Given the description of an element on the screen output the (x, y) to click on. 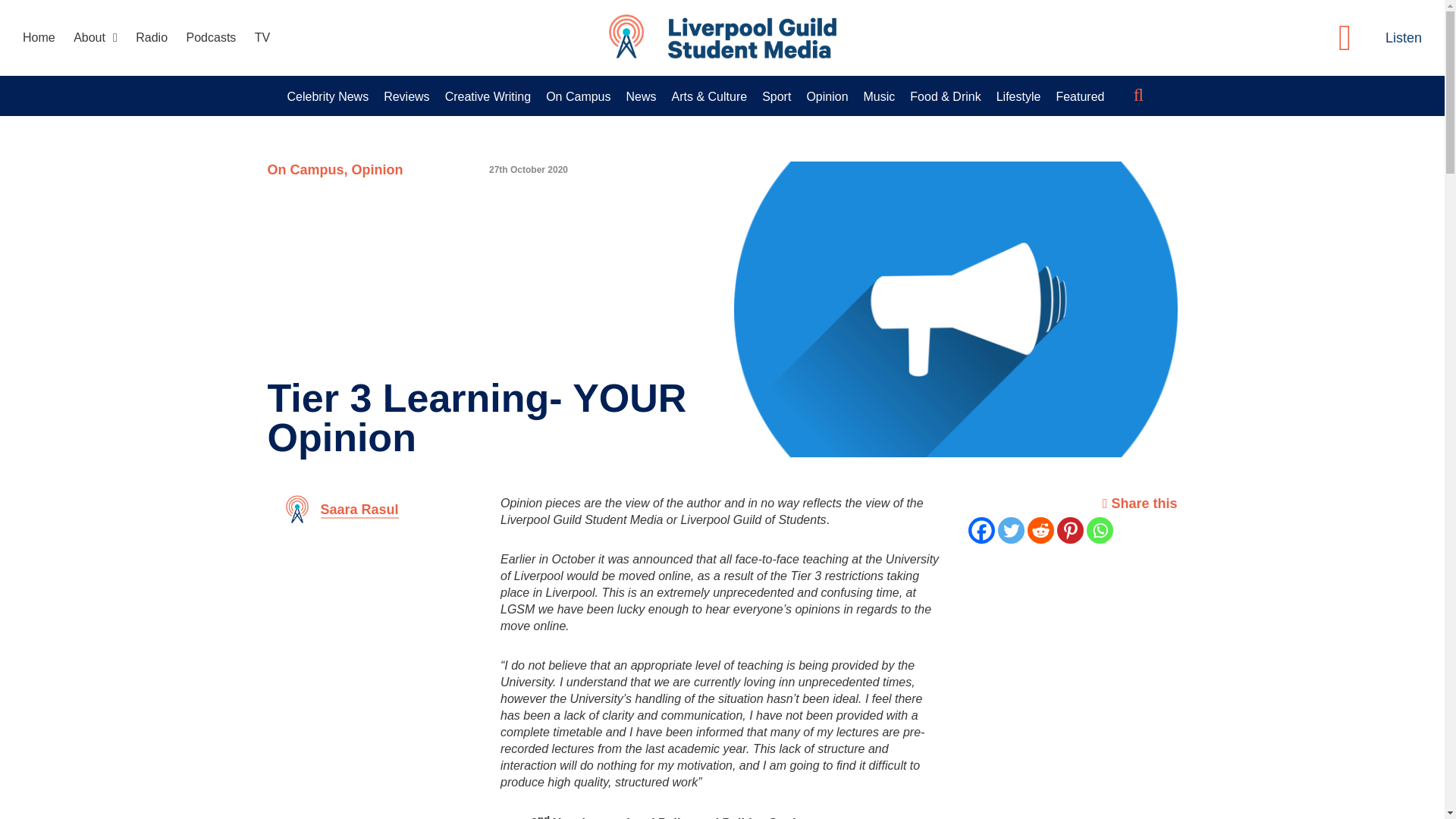
Lifestyle (1018, 96)
TV (261, 37)
Home (39, 37)
Facebook (981, 529)
Opinion (377, 169)
Podcasts (210, 37)
About (95, 37)
On Campus (578, 96)
On Campus (304, 169)
Creative Writing (488, 96)
